Given the description of an element on the screen output the (x, y) to click on. 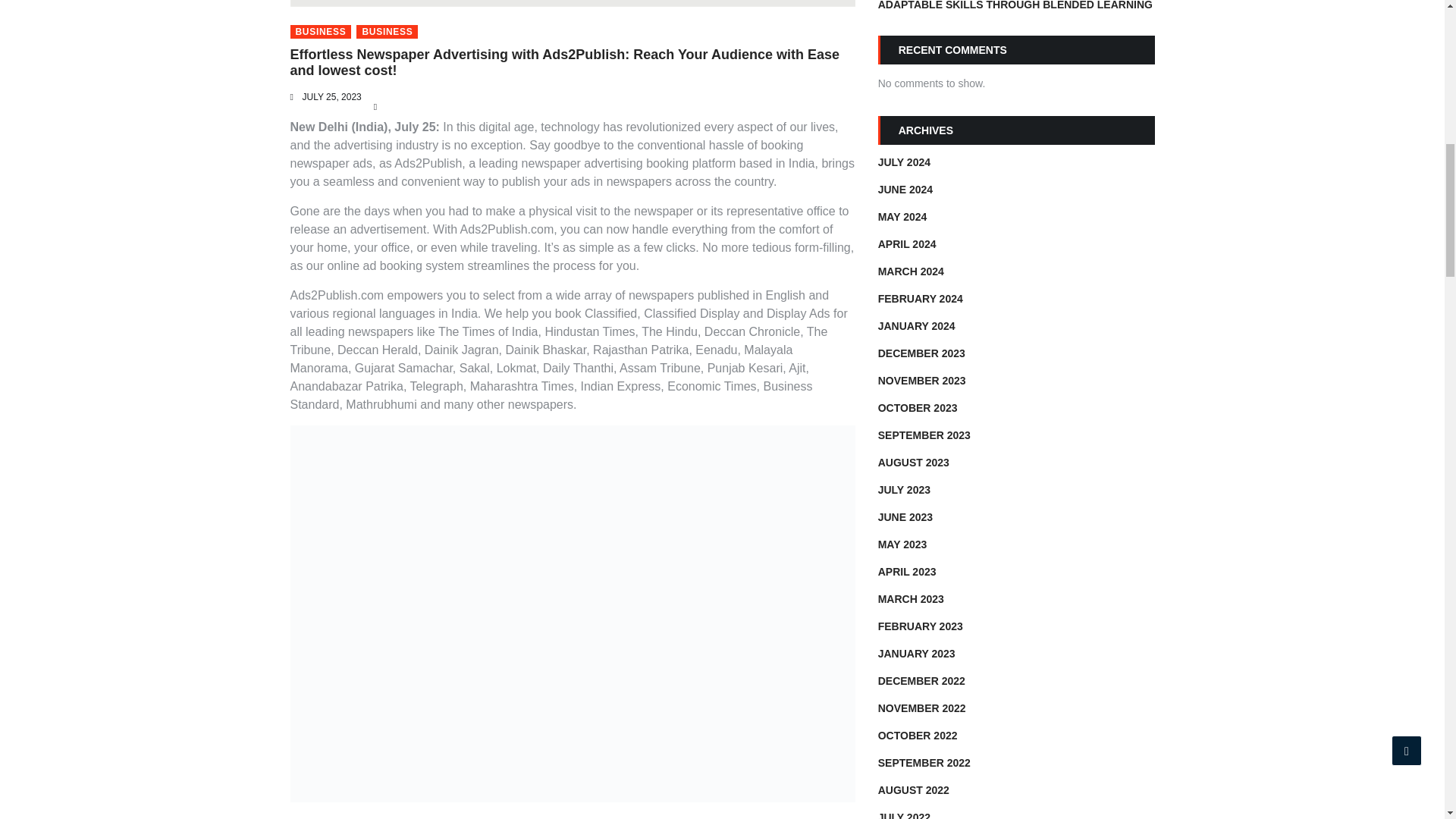
JULY 25, 2023 (331, 96)
BUSINESS (386, 31)
JULY 2024 (903, 162)
BUSINESS (319, 31)
